Given the description of an element on the screen output the (x, y) to click on. 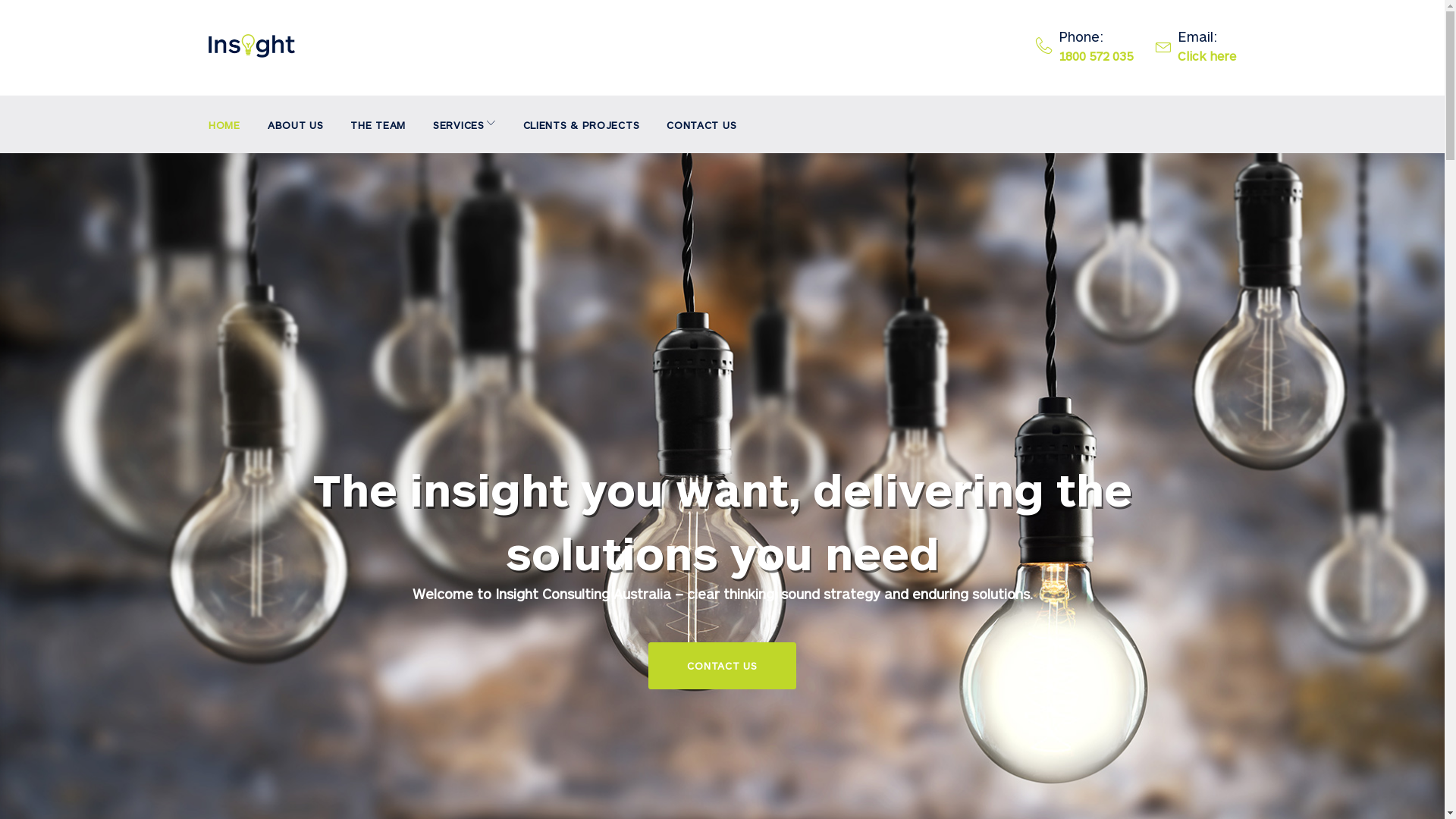
THE TEAM Element type: text (377, 124)
CLIENTS & PROJECTS Element type: text (581, 124)
Click here Element type: text (1206, 56)
1800 572 035 Element type: text (1095, 56)
ABOUT US Element type: text (295, 124)
CONTACT US Element type: text (721, 665)
CONTACT US Element type: text (701, 124)
HOME Element type: text (224, 124)
SERVICES Element type: text (464, 124)
